Given the description of an element on the screen output the (x, y) to click on. 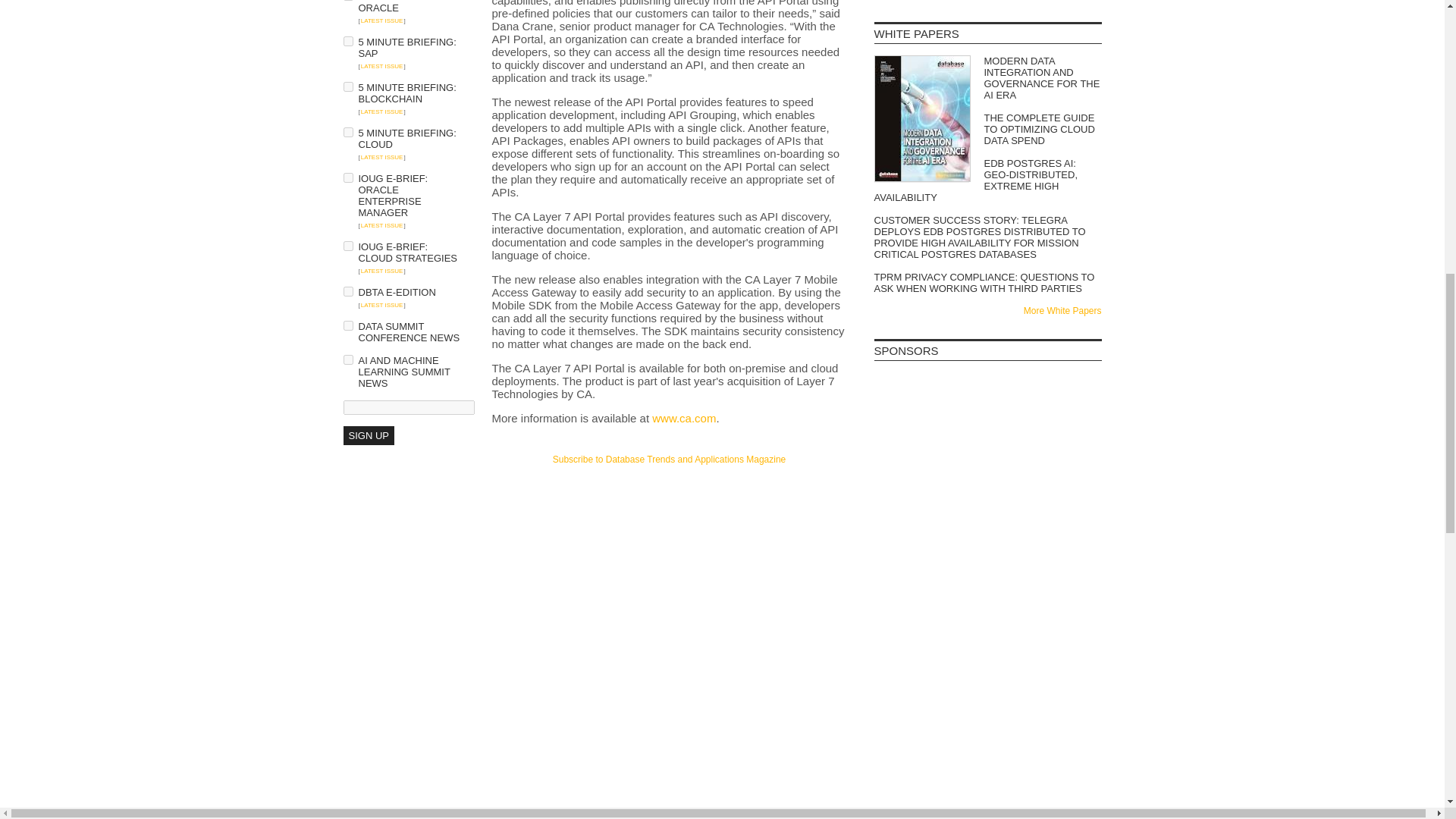
on (347, 40)
3rd party ad content (986, 591)
Modern Data Integration and Governance for the AI Era (986, 77)
on (347, 177)
on (347, 291)
3rd party ad content (668, 494)
on (347, 132)
